Given the description of an element on the screen output the (x, y) to click on. 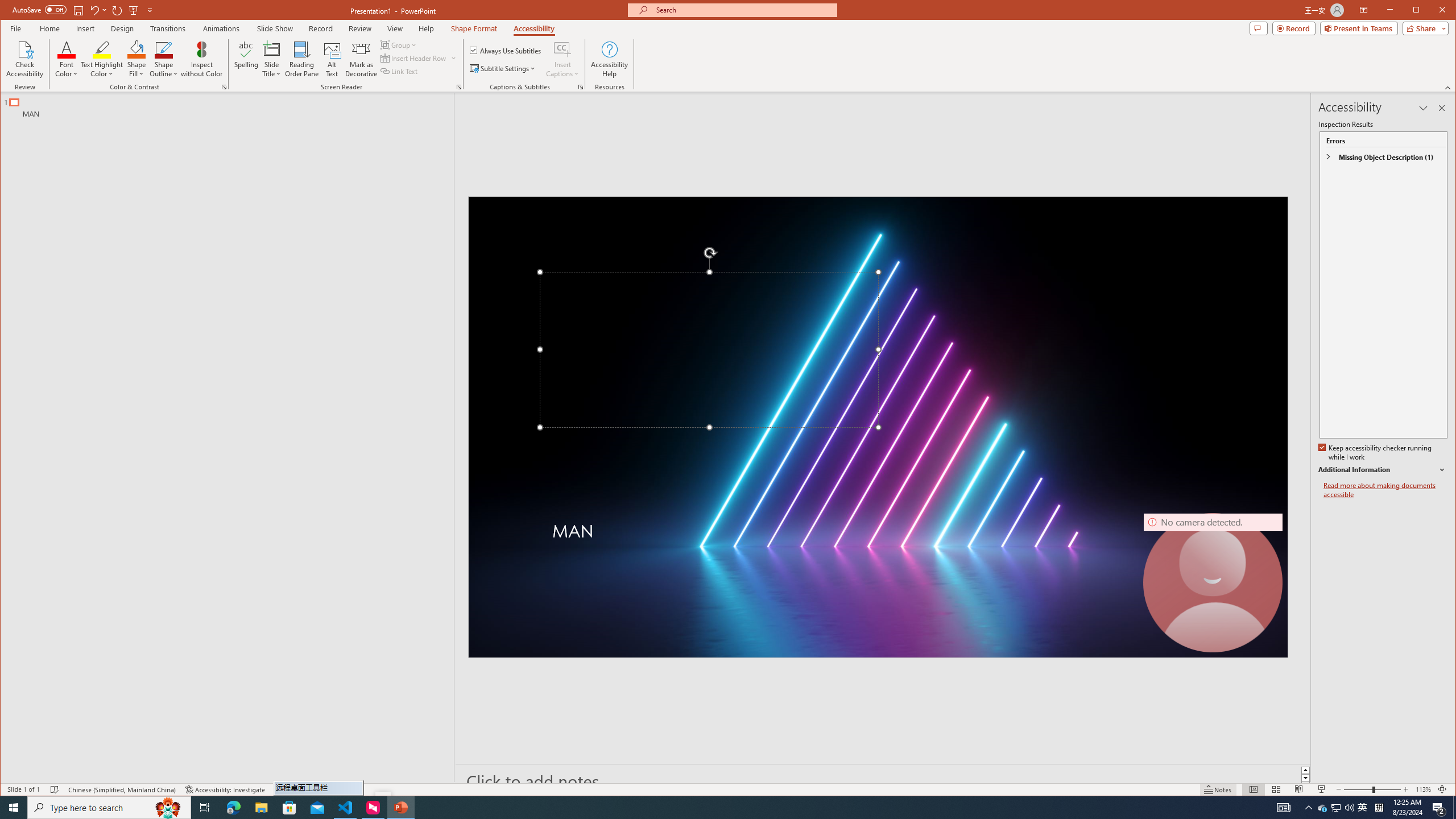
Text Highlight Color No Color (102, 48)
